Given the description of an element on the screen output the (x, y) to click on. 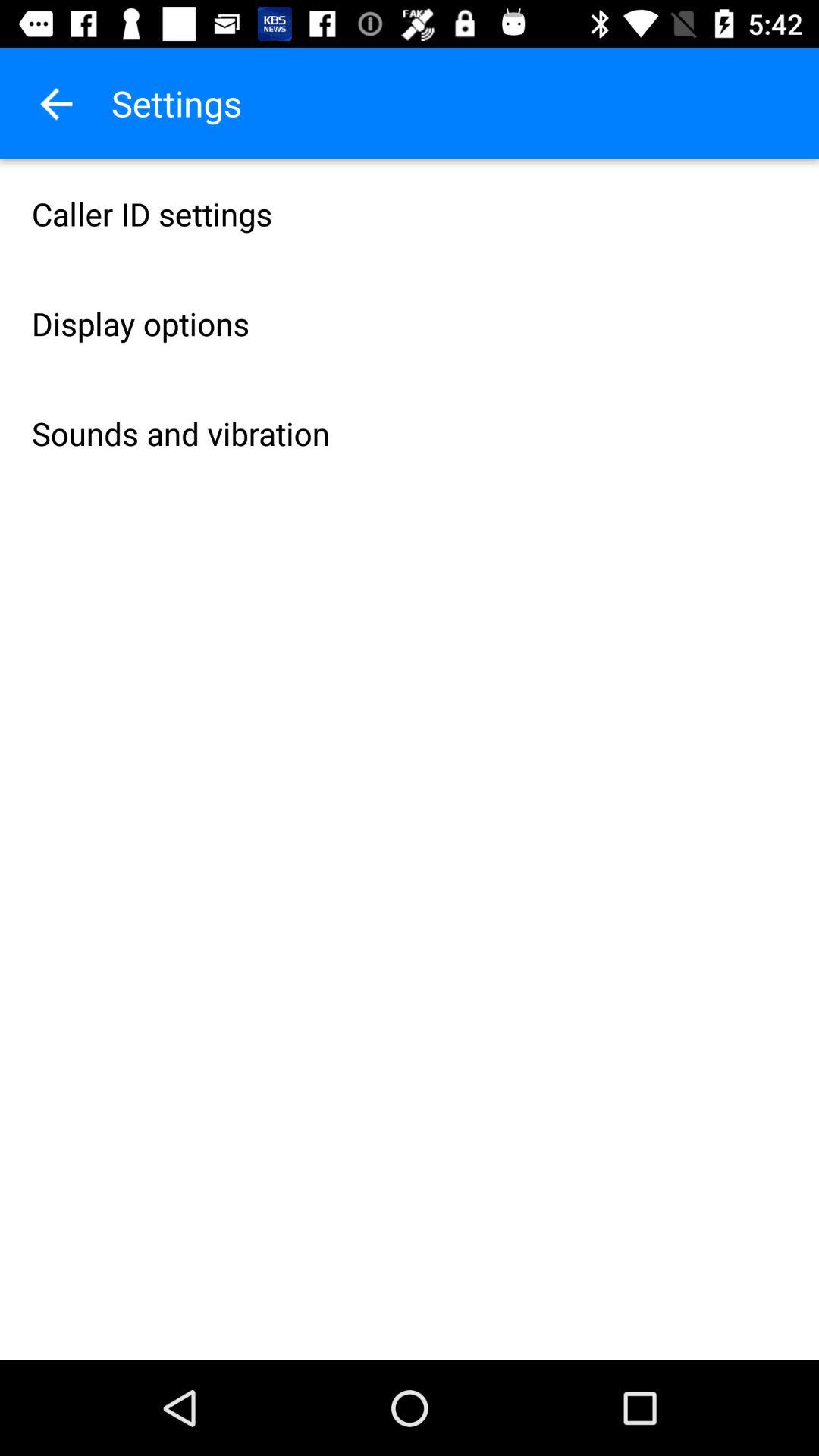
select the display options item (409, 323)
